Given the description of an element on the screen output the (x, y) to click on. 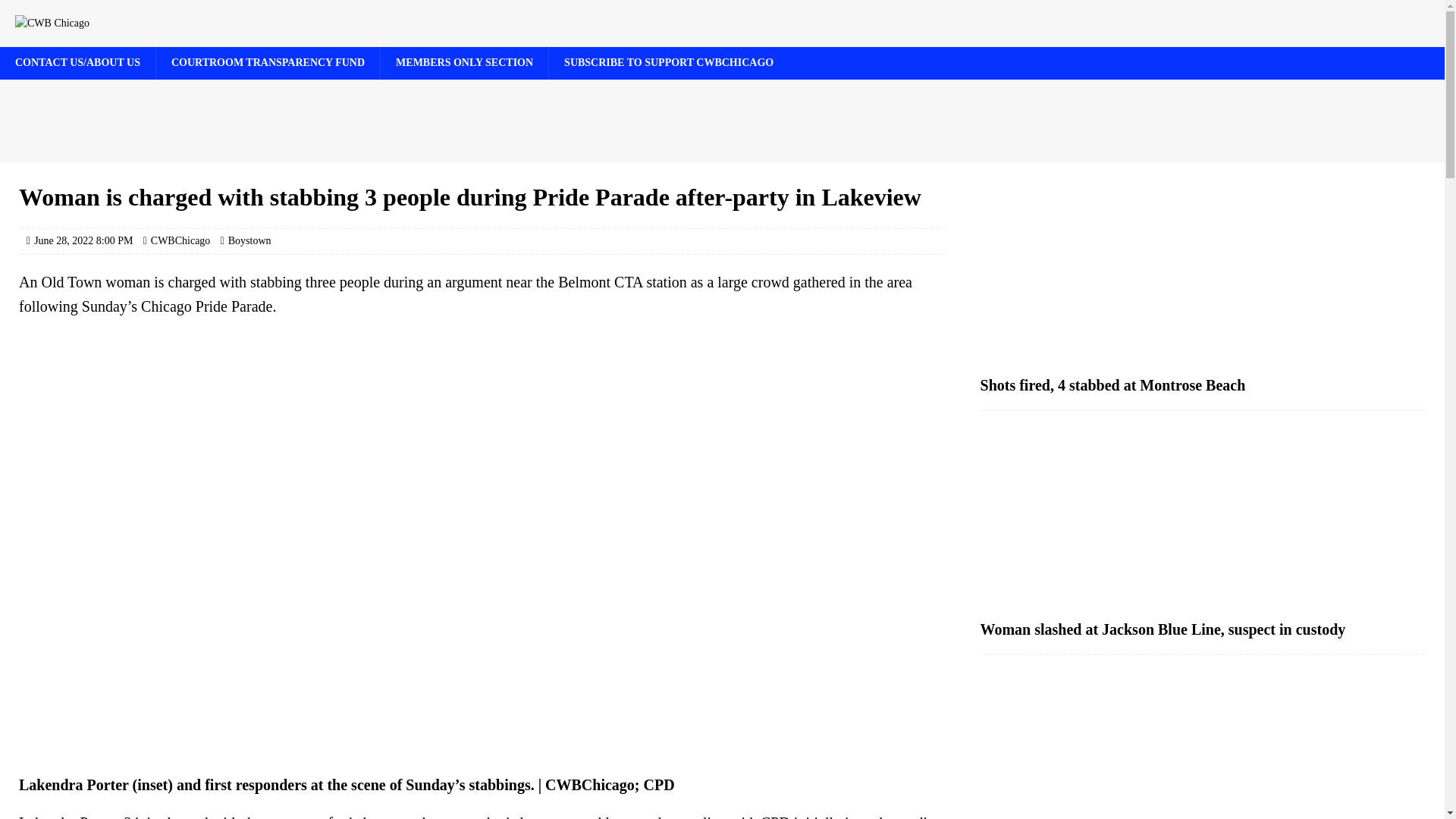
Shots fired, 4 stabbed at Montrose Beach (1202, 274)
Woman slashed at Jackson Blue Line, suspect in custody (1202, 518)
Shots fired, 4 stabbed at Montrose Beach (1112, 384)
Shots fired, 4 stabbed at Montrose Beach (1112, 384)
Boystown (249, 240)
COURTROOM TRANSPARENCY FUND (267, 62)
Woman slashed at Jackson Blue Line, suspect in custody (1162, 629)
SUBSCRIBE TO SUPPORT CWBCHICAGO (668, 62)
June 28, 2022 8:00 PM (82, 240)
MEMBERS ONLY SECTION (464, 62)
CWBChicago (181, 240)
Woman slashed at Jackson Blue Line, suspect in custody (1162, 629)
